Given the description of an element on the screen output the (x, y) to click on. 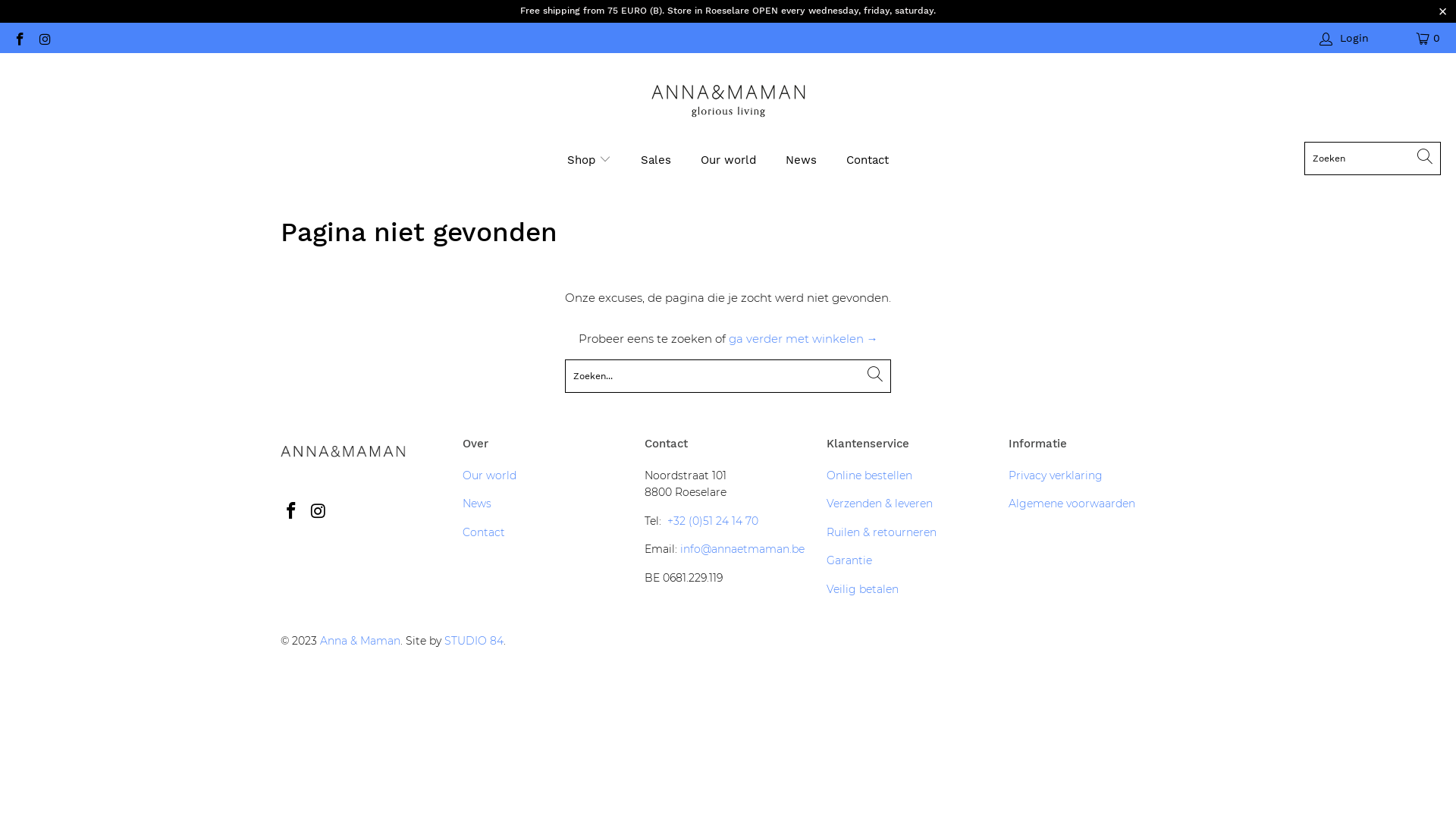
Privacy verklaring Element type: text (1055, 475)
Anna & Maman Element type: text (360, 640)
Anna & Maman Element type: hover (728, 100)
Contact Element type: text (483, 532)
STUDIO 84 Element type: text (473, 640)
Our world Element type: text (489, 475)
Anna & Maman on Instagram Element type: hover (44, 37)
Login Element type: text (1344, 37)
Online bestellen Element type: text (869, 475)
Anna & Maman on Instagram Element type: hover (318, 511)
Anna & Maman on Facebook Element type: hover (18, 37)
Sales Element type: text (655, 159)
News Element type: text (800, 159)
+32 (0)51 24 14 70 Element type: text (712, 520)
Contact Element type: text (867, 159)
Garantie Element type: text (849, 560)
Shop Element type: text (589, 159)
Anna & Maman on Facebook Element type: hover (291, 511)
Veilig betalen Element type: text (862, 589)
Verzenden & leveren Element type: text (879, 503)
Algemene voorwaarden Element type: text (1071, 503)
Our world Element type: text (728, 159)
info@annaetmaman.be Element type: text (742, 548)
News Element type: text (476, 503)
Ruilen & retourneren Element type: text (881, 532)
